Given the description of an element on the screen output the (x, y) to click on. 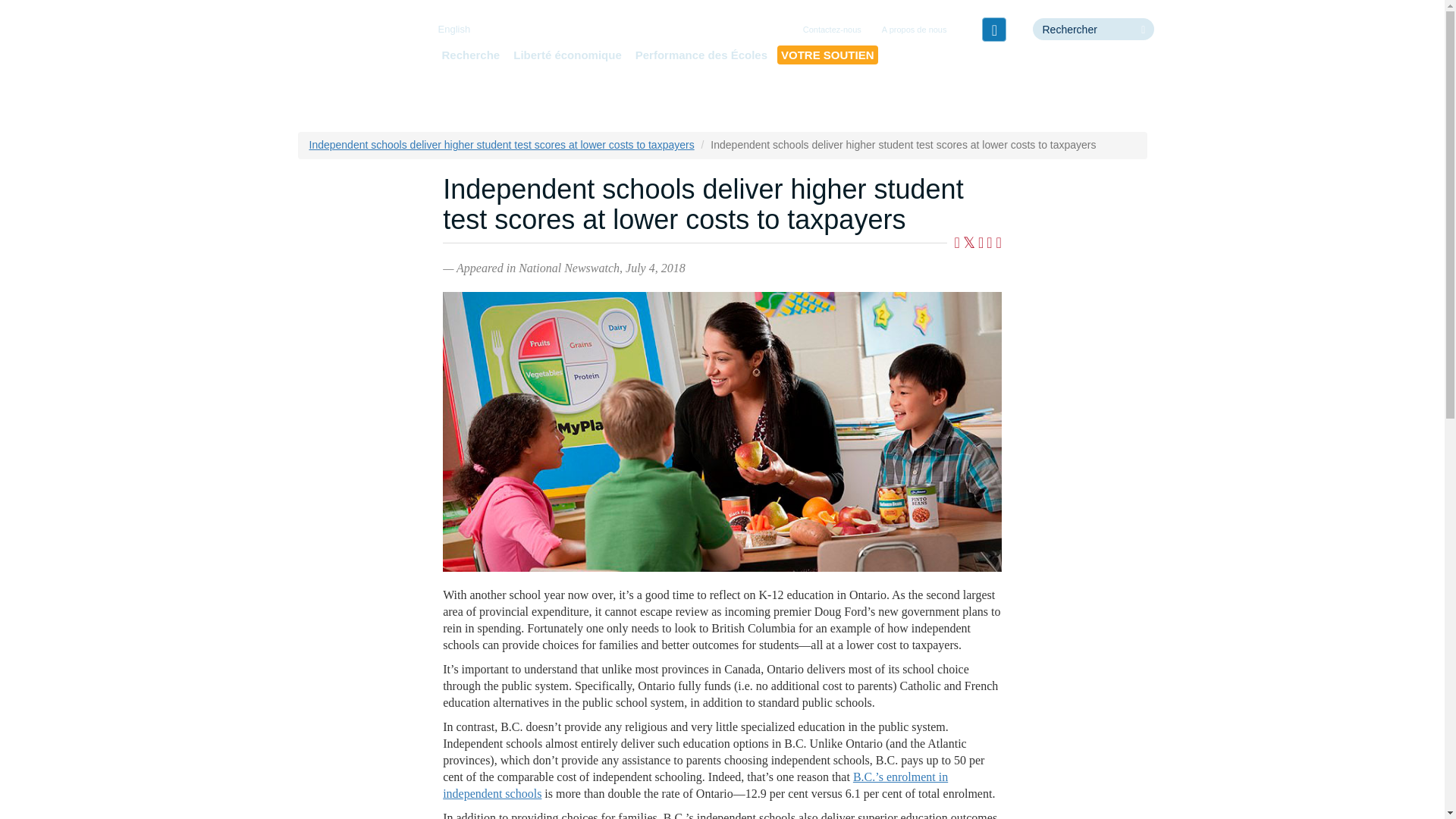
A propos de nous (914, 30)
Facebook (993, 29)
Recherche (470, 54)
VOTRE SOUTIEN (827, 54)
Votre Soutien (827, 54)
Accueil (352, 56)
Contactez-nous (831, 30)
English (454, 29)
